Given the description of an element on the screen output the (x, y) to click on. 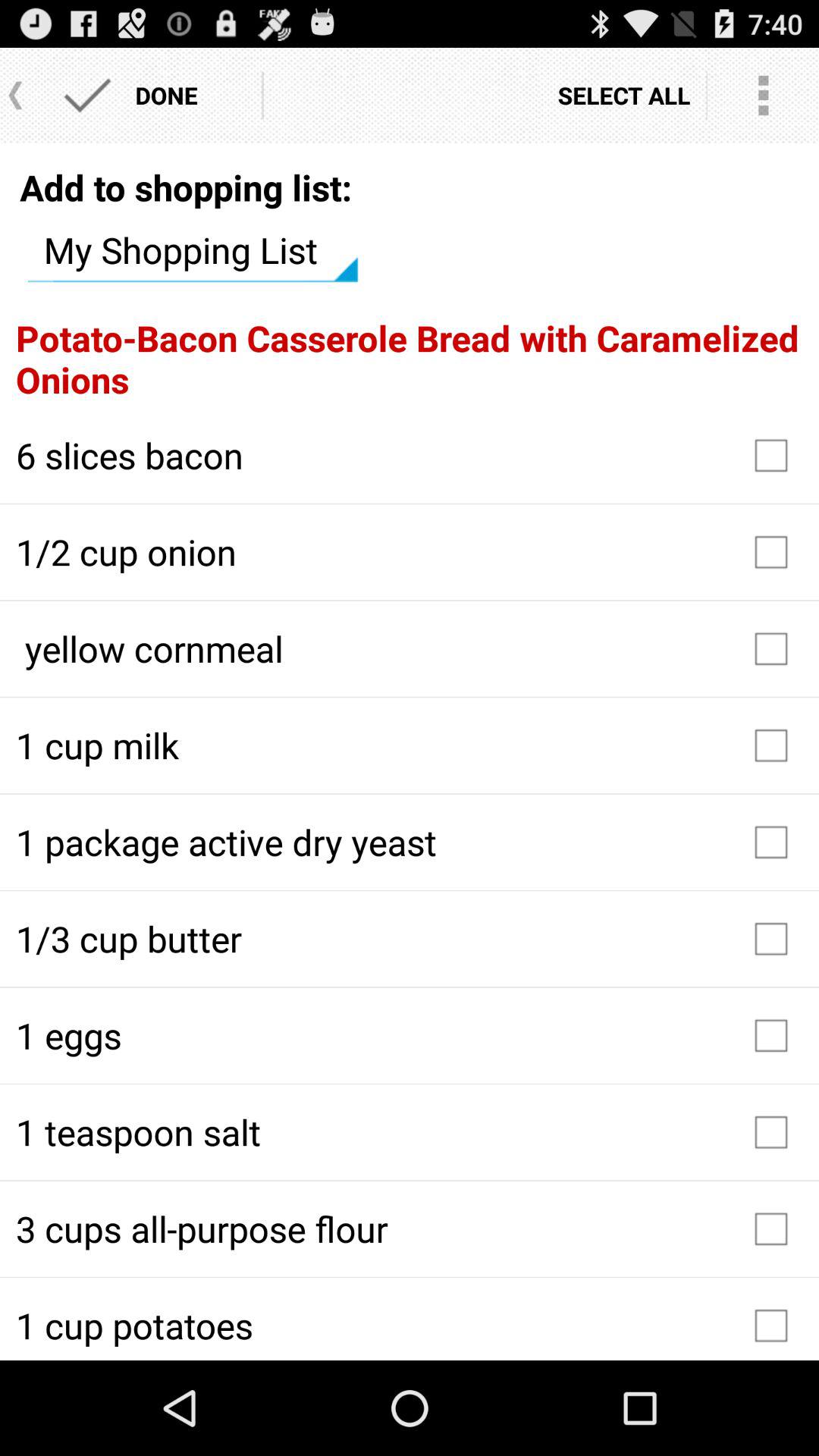
press icon below the 1 cup milk (409, 842)
